Given the description of an element on the screen output the (x, y) to click on. 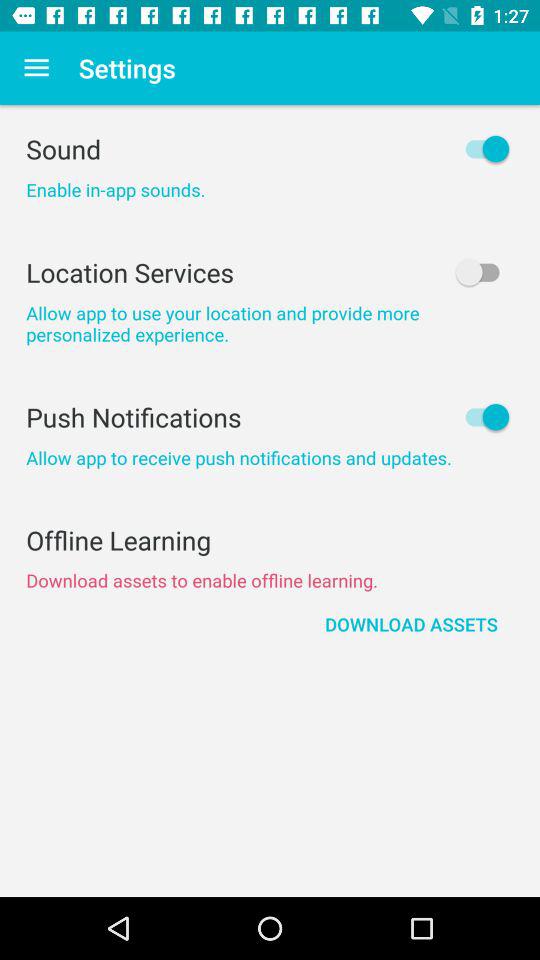
tap the item above allow app to item (269, 272)
